Given the description of an element on the screen output the (x, y) to click on. 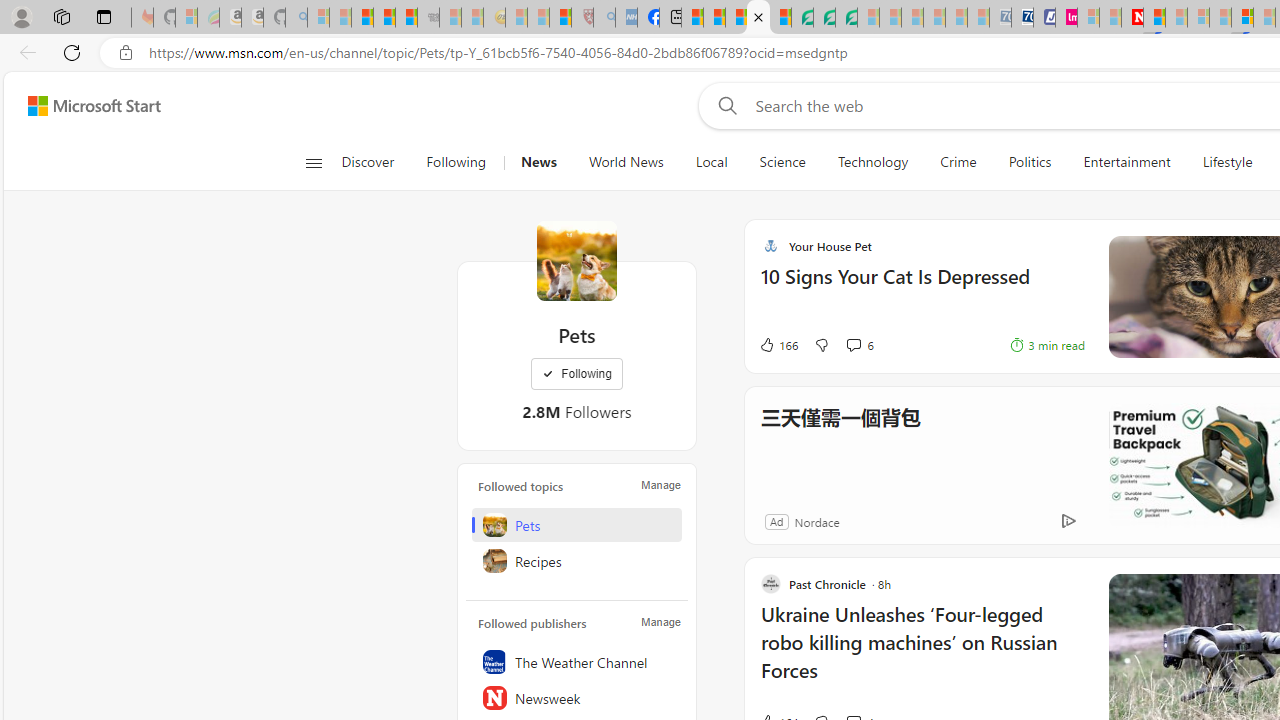
The Weather Channel (577, 661)
View comments 6 Comment (852, 345)
